Given the description of an element on the screen output the (x, y) to click on. 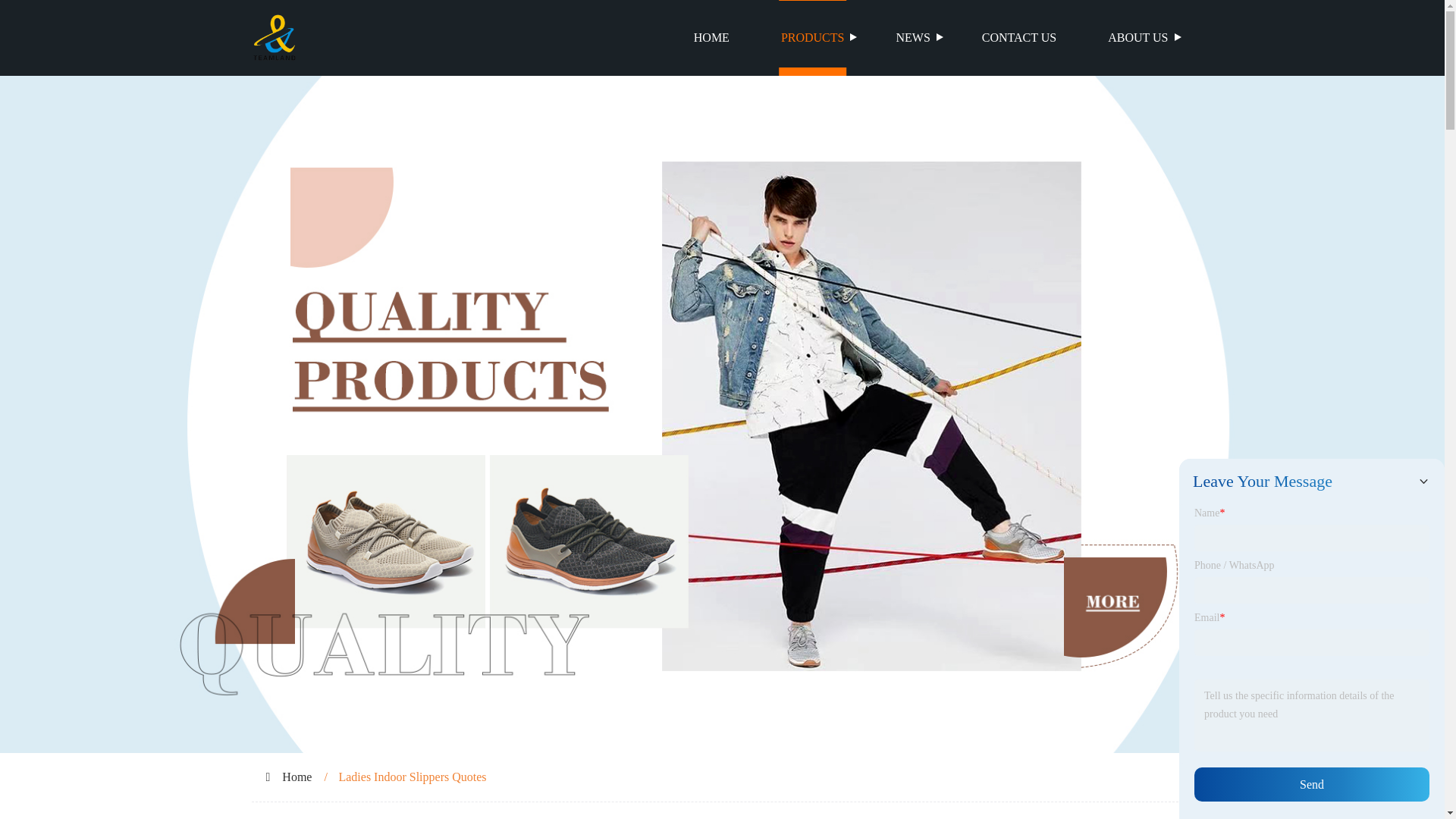
ABOUT US (1137, 38)
NEWS (912, 38)
Home (296, 776)
CONTACT US (1018, 38)
PRODUCTS (812, 38)
HOME (711, 38)
